Given the description of an element on the screen output the (x, y) to click on. 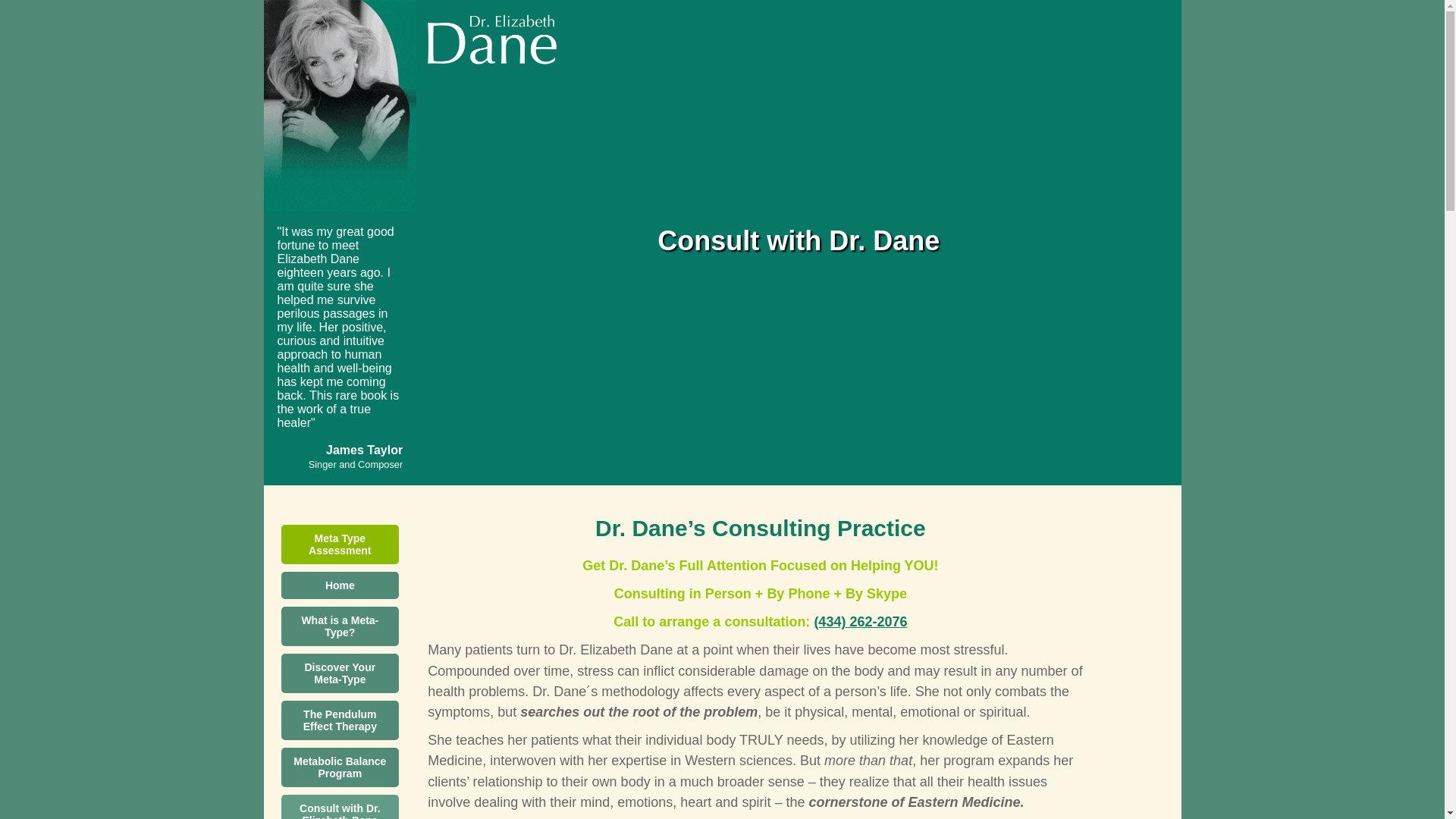
Meta Type Assessment (339, 544)
Metabolic Balance Program (339, 767)
Home (339, 584)
What is a Meta-Type? (339, 626)
Consult with Dr. Elizabeth Dane (339, 806)
Discover Your Meta-Type (339, 672)
The Pendulum Effect Therapy (339, 720)
